Given the description of an element on the screen output the (x, y) to click on. 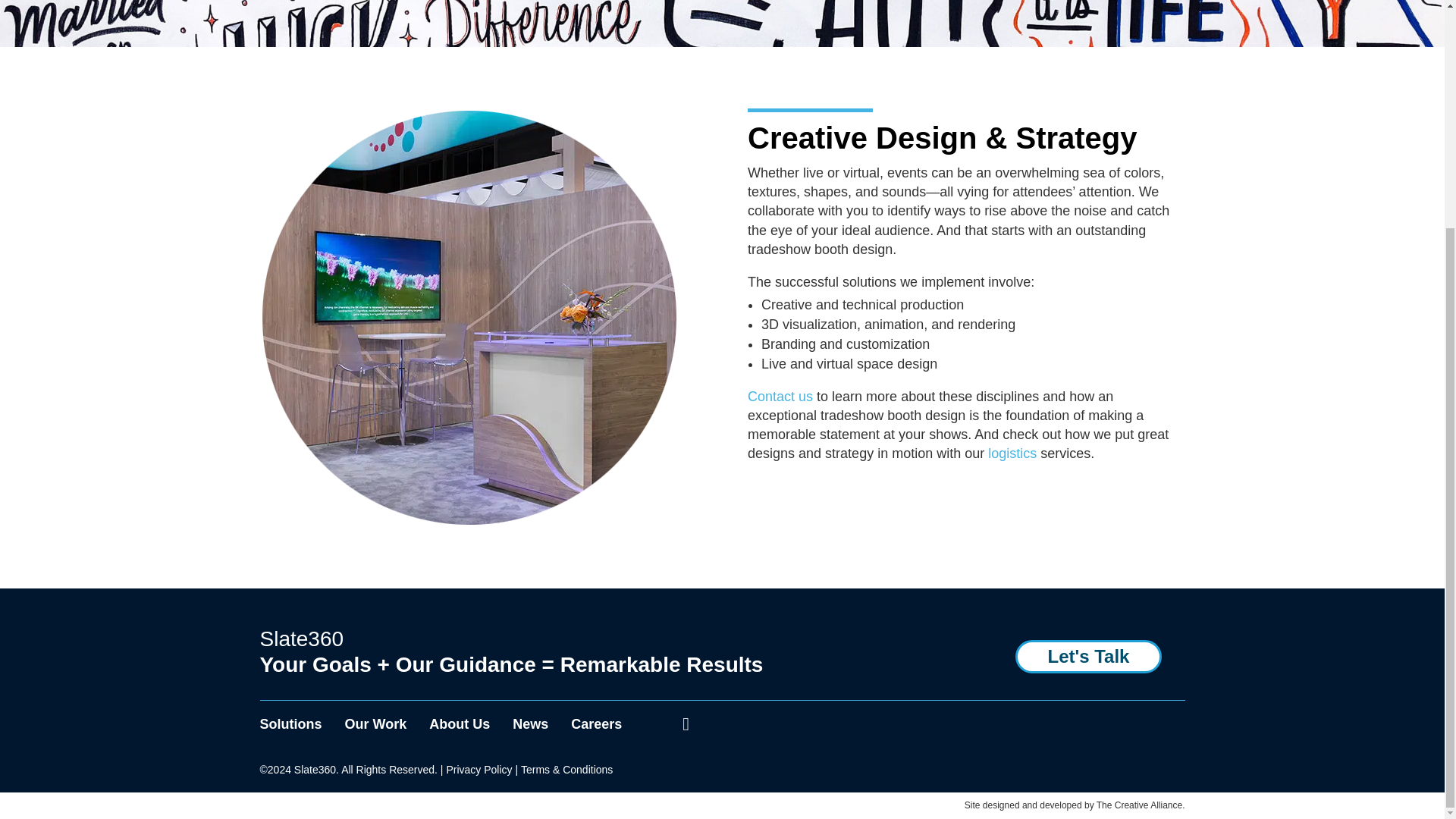
Our Work (376, 724)
Site designed and developed by The Creative Alliance (1072, 805)
Solutions (290, 724)
Let's Talk (1087, 656)
News (530, 724)
Careers (595, 724)
logistics (1012, 453)
Contact us (780, 396)
Privacy Policy (478, 769)
About Us (459, 724)
large-circle-creative (468, 522)
